Given the description of an element on the screen output the (x, y) to click on. 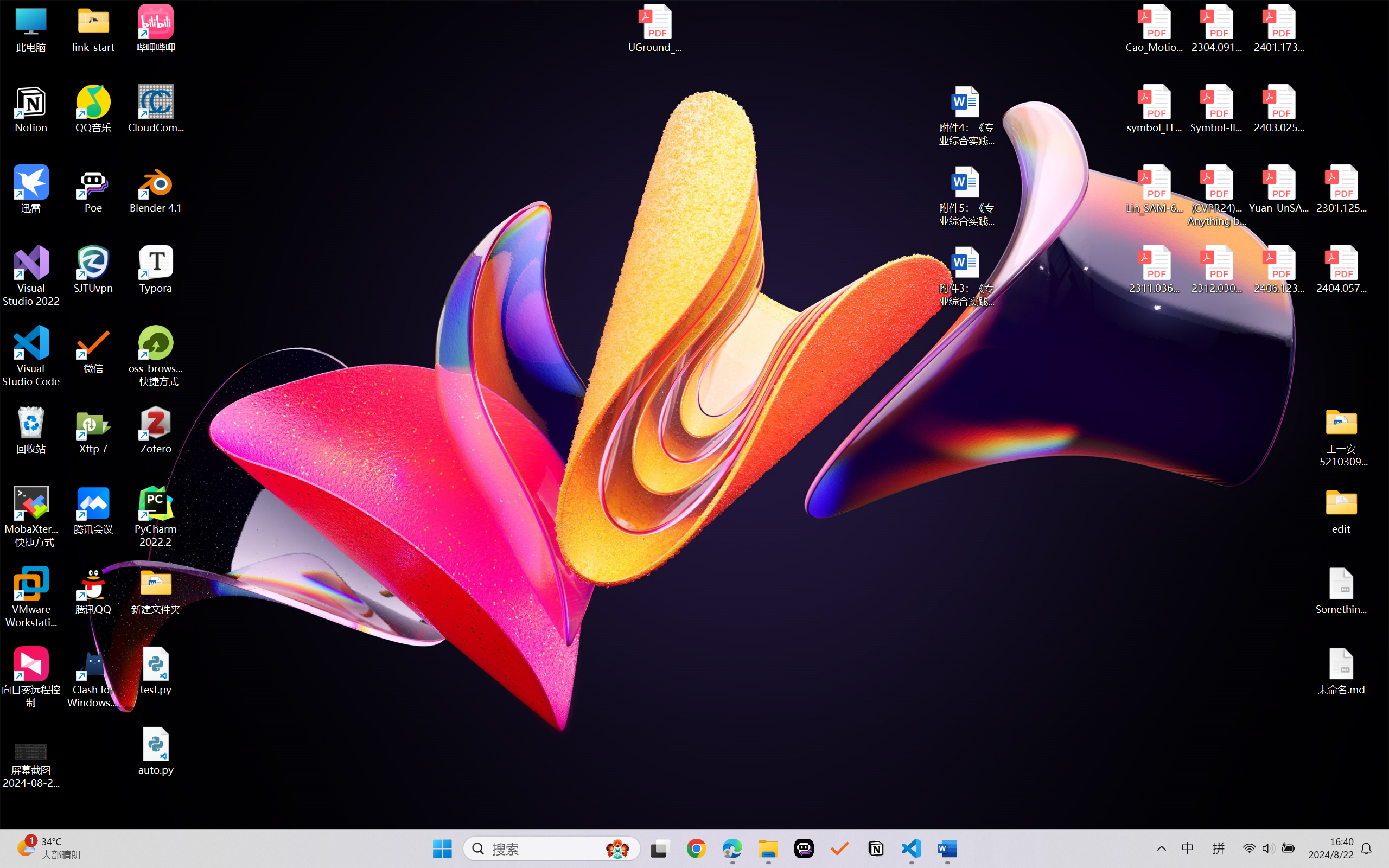
Notion (875, 848)
Symbol-llm-v2.pdf (1216, 109)
Google Chrome (696, 848)
edit (1340, 510)
2404.05719v1.pdf (1340, 269)
2301.12597v3.pdf (1340, 189)
2401.17399v1.pdf (1278, 28)
(CVPR24)Matching Anything by Segmenting Anything.pdf (1216, 195)
